Given the description of an element on the screen output the (x, y) to click on. 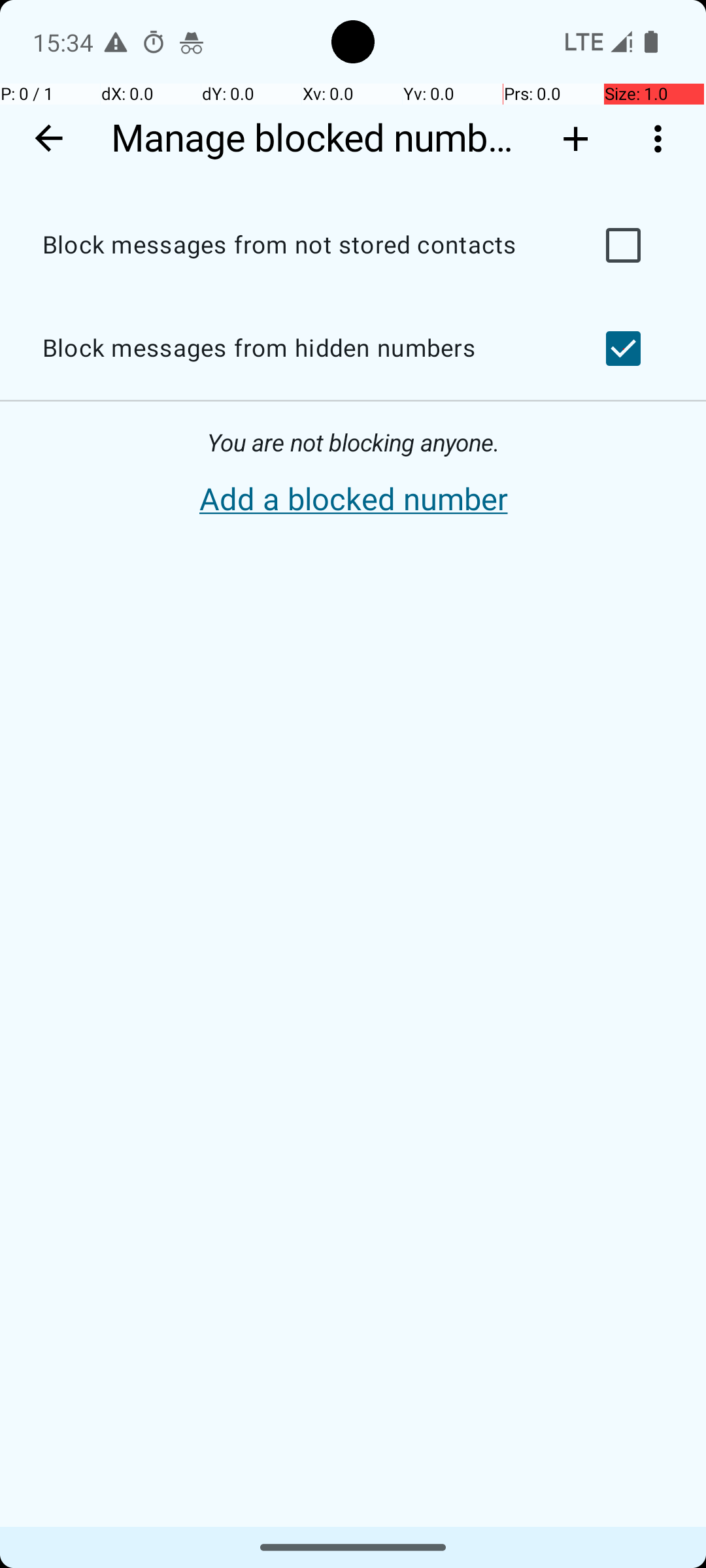
You are not blocking anyone. Element type: android.widget.TextView (352, 443)
Manage blocked numbers Element type: android.widget.TextView (318, 138)
Block messages from not stored contacts Element type: android.widget.TextView (297, 244)
Block messages from hidden numbers Element type: android.widget.TextView (297, 348)
Add a blocked number Element type: android.widget.TextView (352, 499)
